Given the description of an element on the screen output the (x, y) to click on. 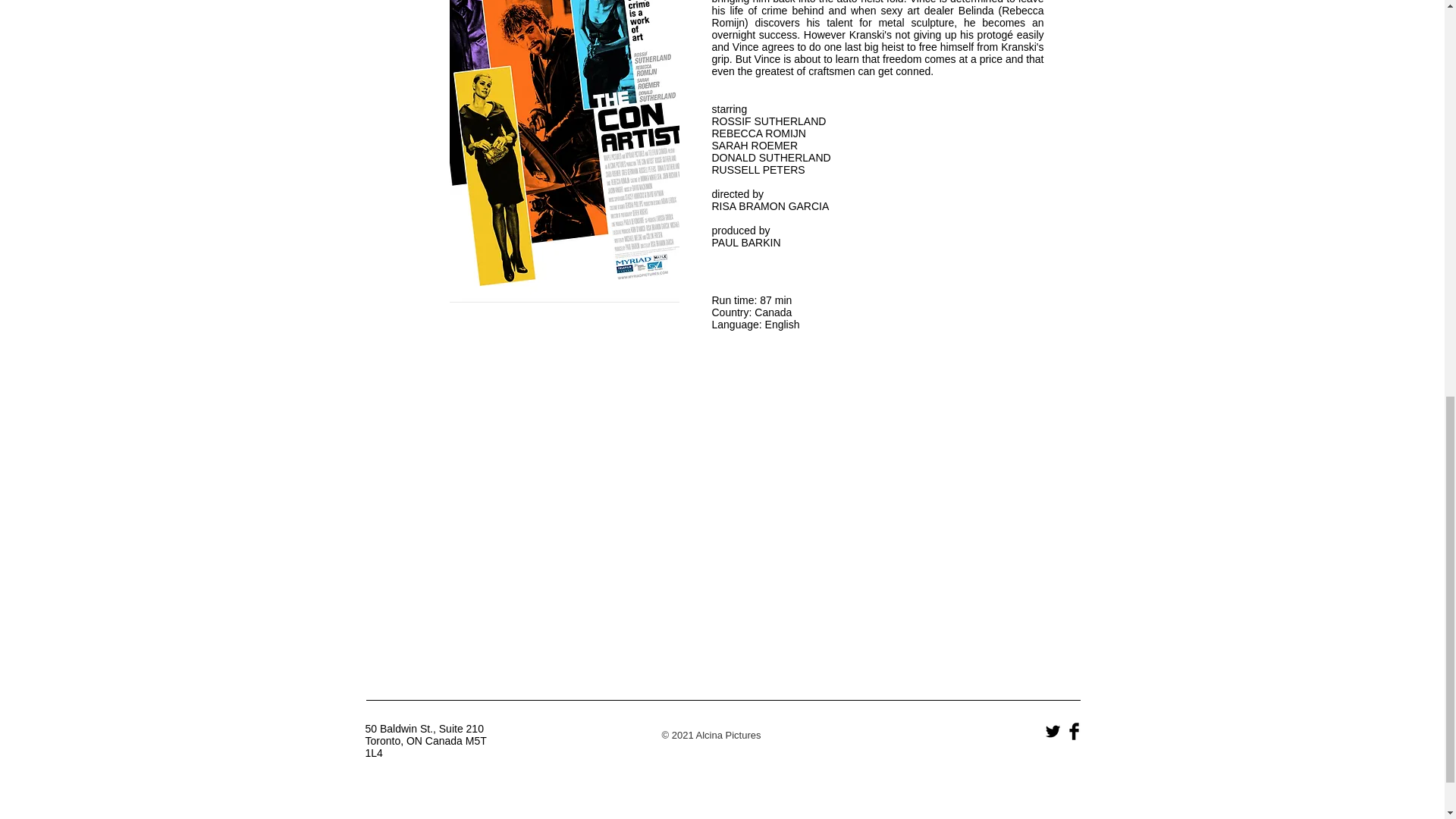
External YouTube (720, 562)
